Given the description of an element on the screen output the (x, y) to click on. 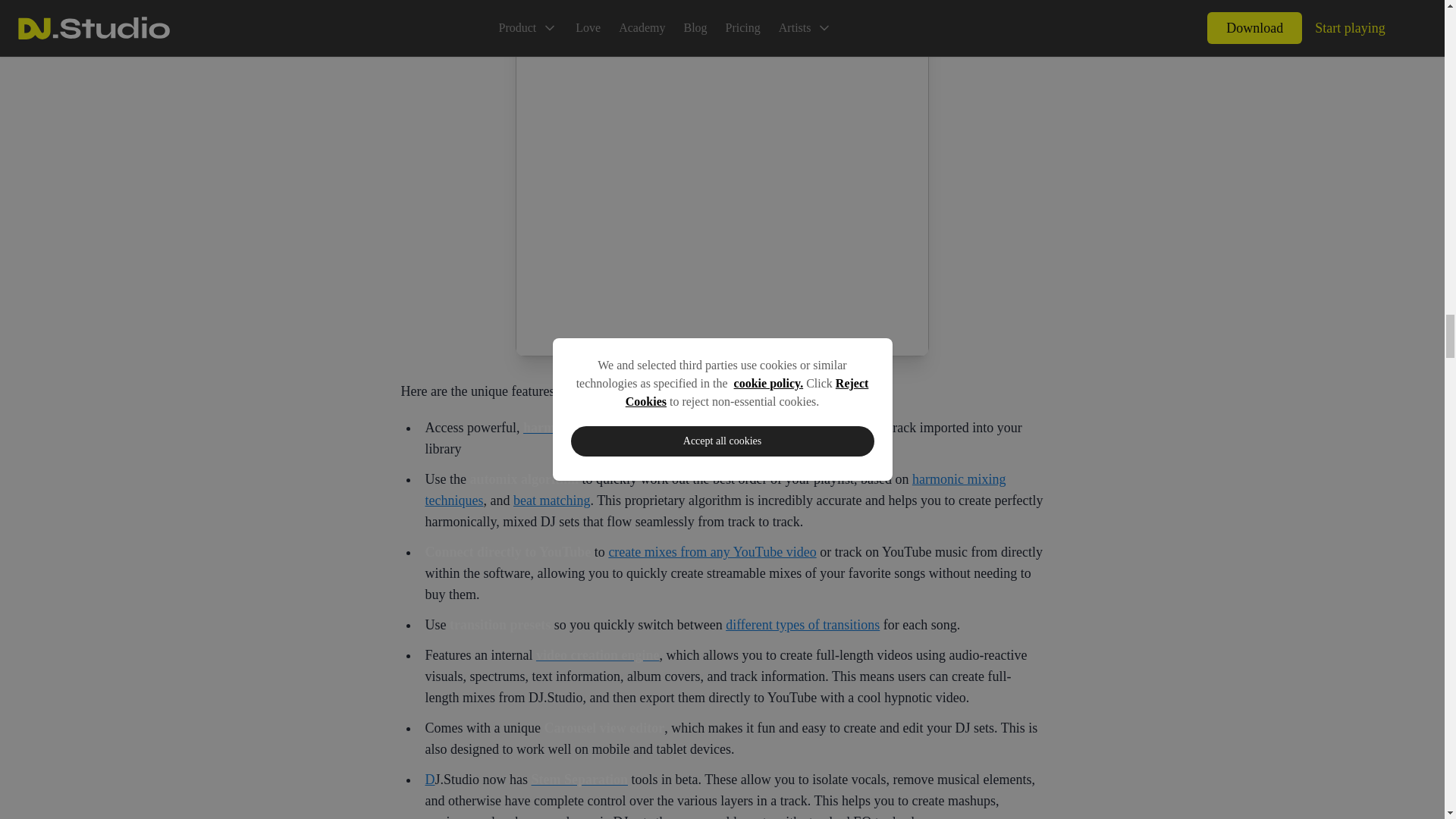
harmonic mixing techniques (715, 489)
harmonic analysis (575, 427)
